Given the description of an element on the screen output the (x, y) to click on. 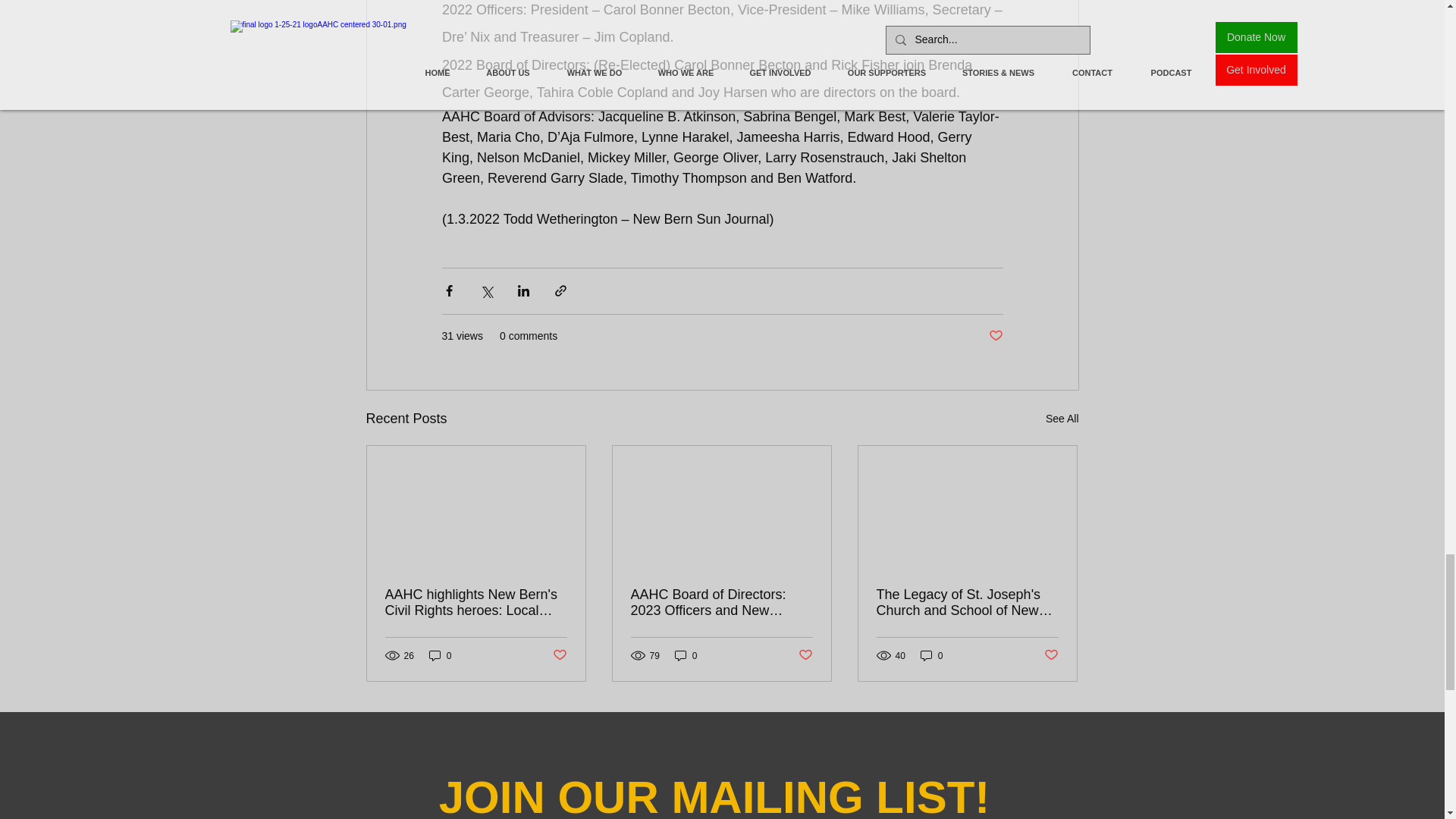
0 (440, 655)
Post not marked as liked (995, 335)
AAHC Board of Directors: 2023 Officers and New Members (721, 603)
See All (1061, 418)
0 (685, 655)
The Legacy of St. Joseph's Church and School of New Bern (967, 603)
Post not marked as liked (558, 655)
Post not marked as liked (804, 655)
